Given the description of an element on the screen output the (x, y) to click on. 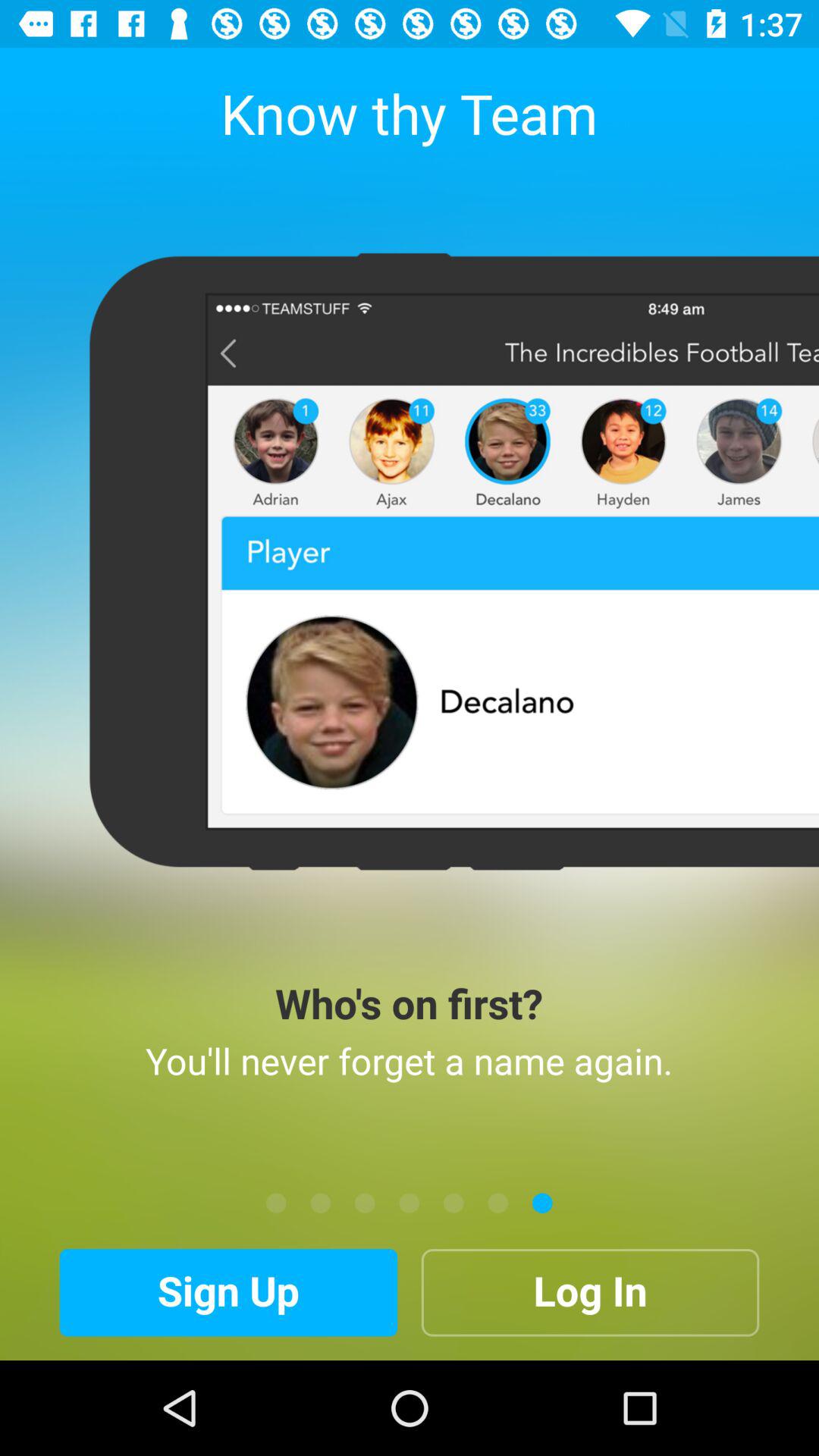
current page (453, 1203)
